Given the description of an element on the screen output the (x, y) to click on. 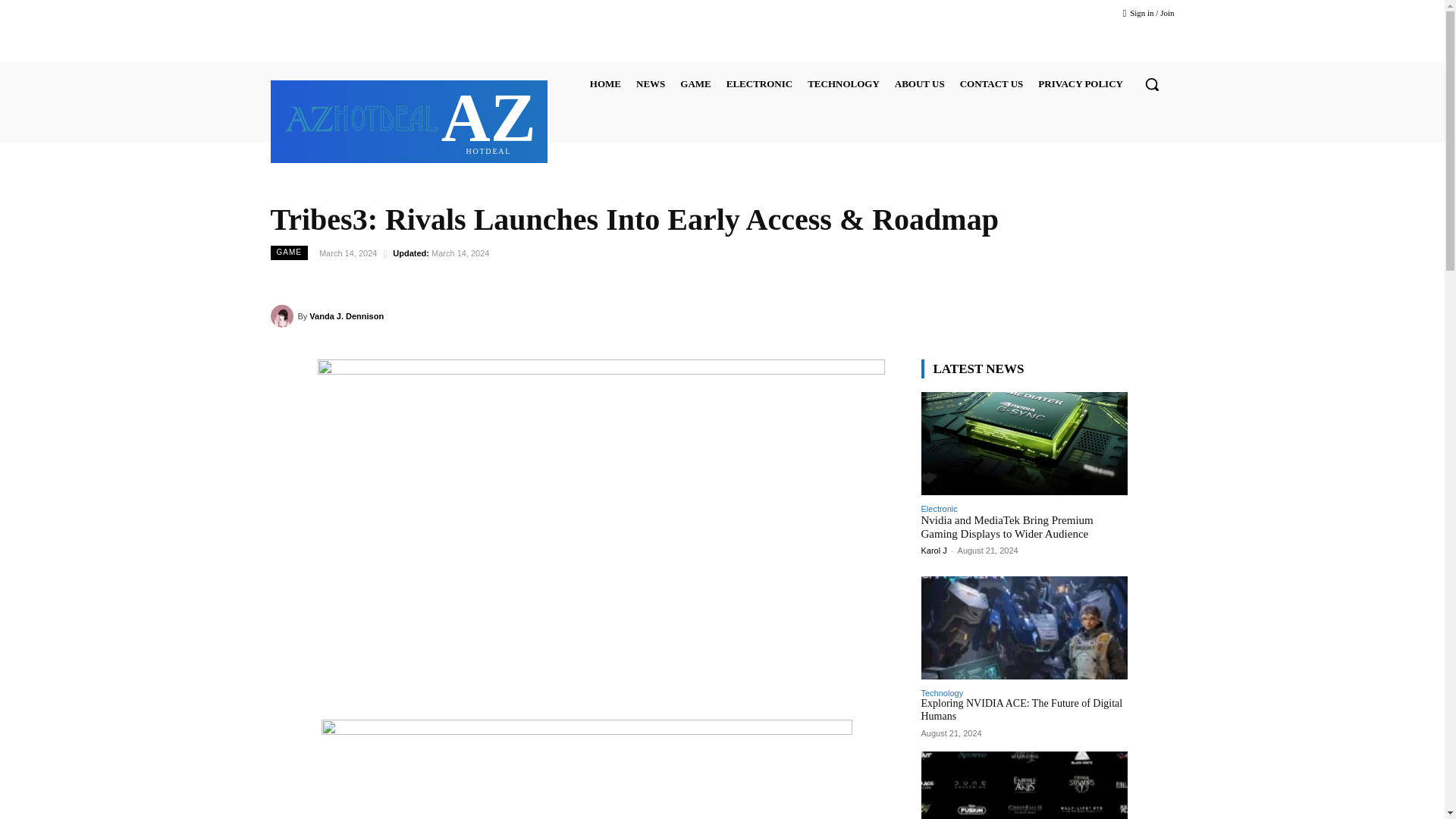
PRIVACY POLICY (1080, 83)
NEWS (408, 118)
CONTACT US (650, 83)
ABOUT US (991, 83)
GAME (919, 83)
ELECTRONIC (695, 83)
TECHNOLOGY (758, 83)
HOME (843, 83)
